Given the description of an element on the screen output the (x, y) to click on. 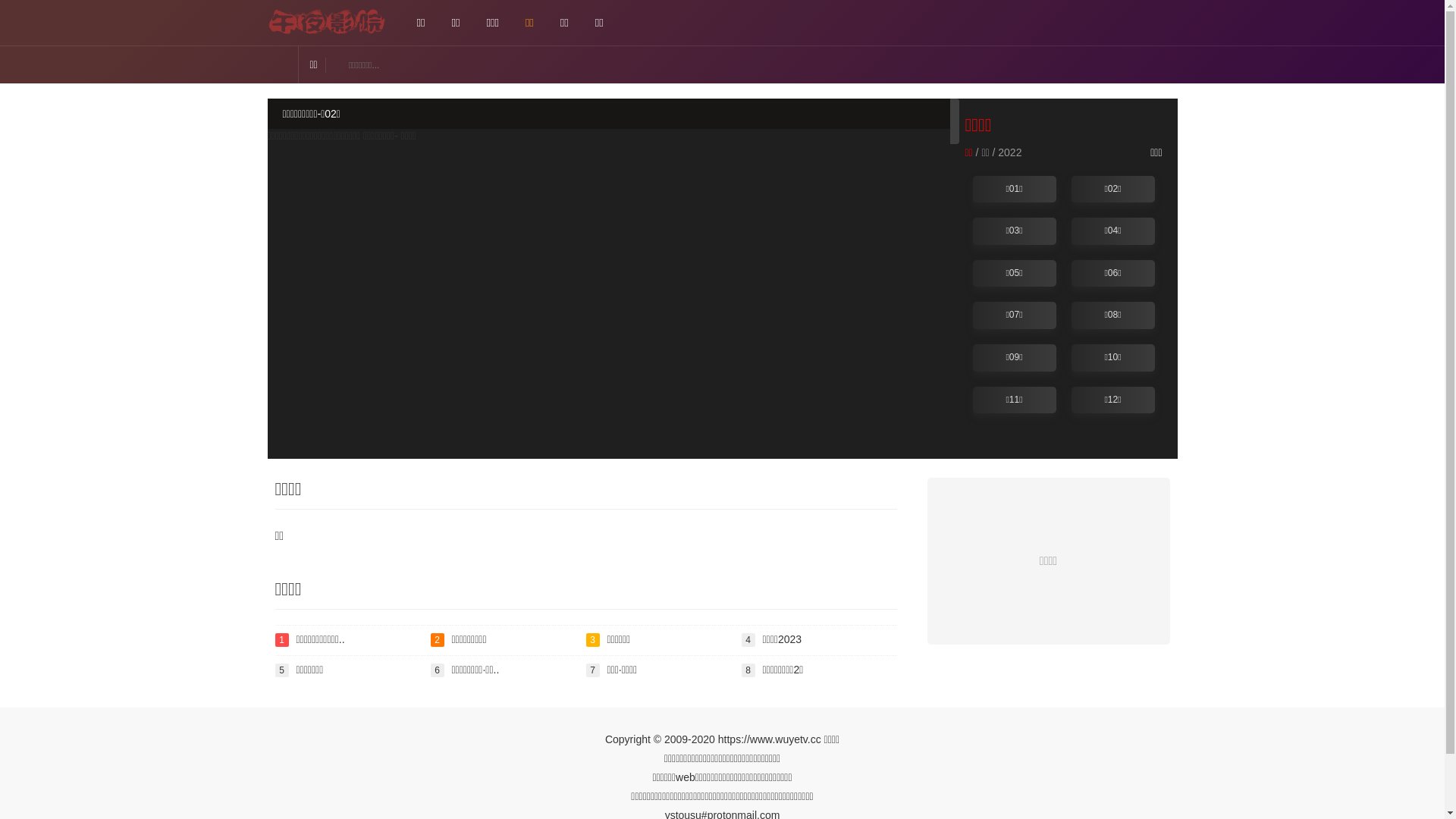
https://www.wuyetv.cc Element type: text (769, 739)
